Given the description of an element on the screen output the (x, y) to click on. 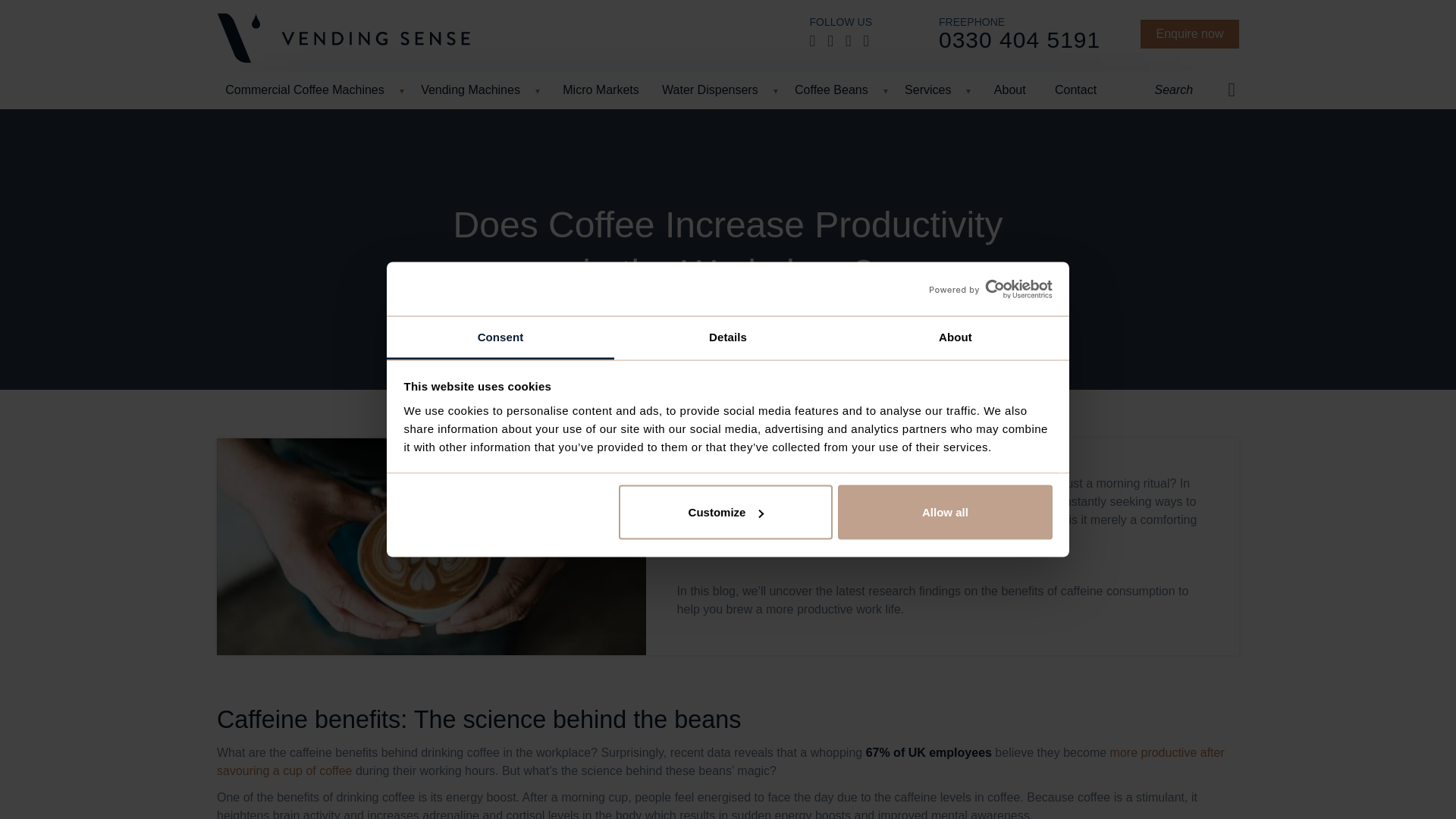
About (954, 337)
Details (727, 337)
Consent (500, 337)
